Given the description of an element on the screen output the (x, y) to click on. 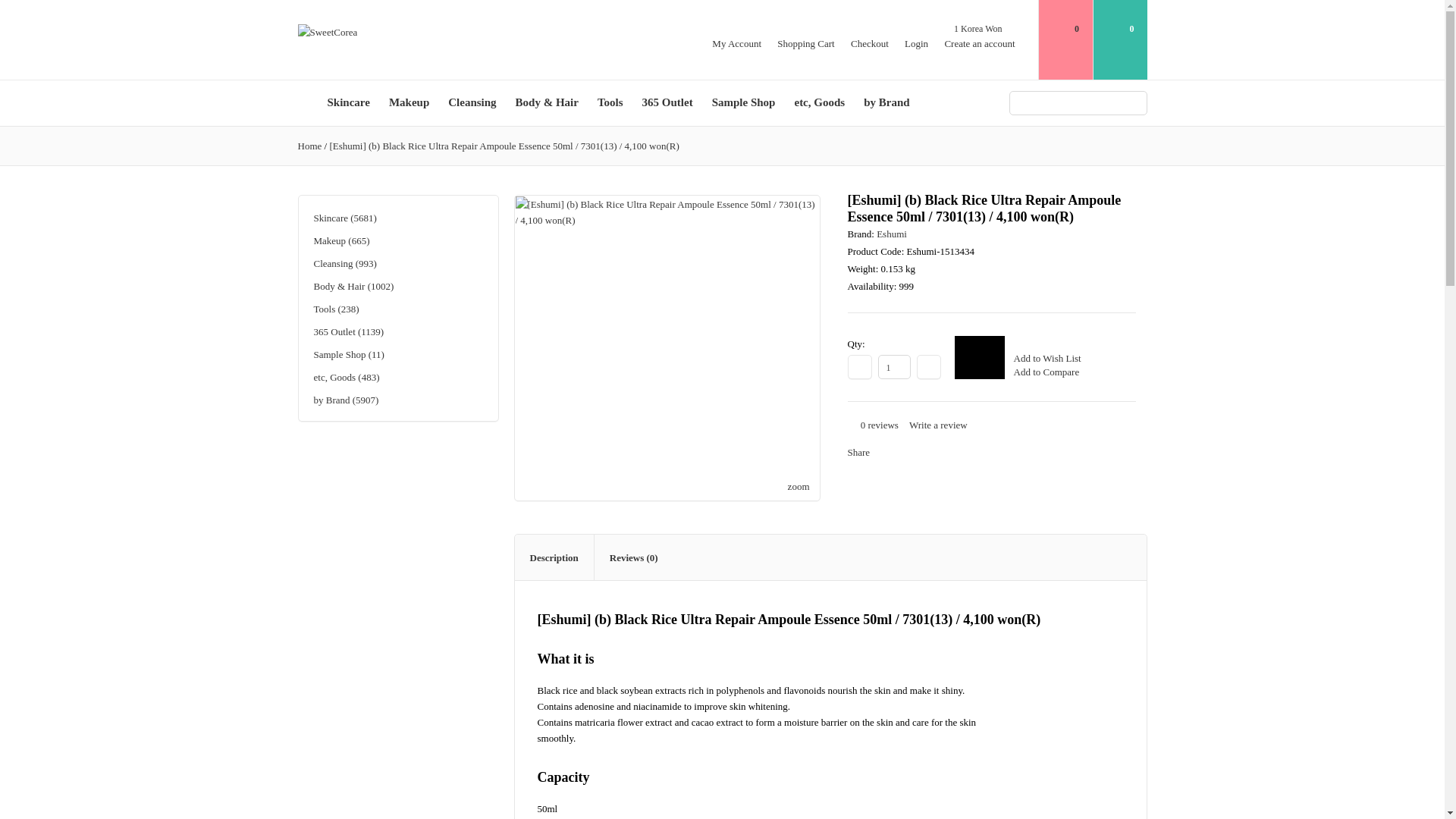
Skincare (347, 103)
My Account (736, 43)
1 (894, 366)
Makeup (408, 103)
Login (916, 43)
1 Korea Won (977, 28)
Shopping Cart (805, 43)
Checkout (869, 43)
Create an account (978, 43)
SweetCorea (326, 32)
